Given the description of an element on the screen output the (x, y) to click on. 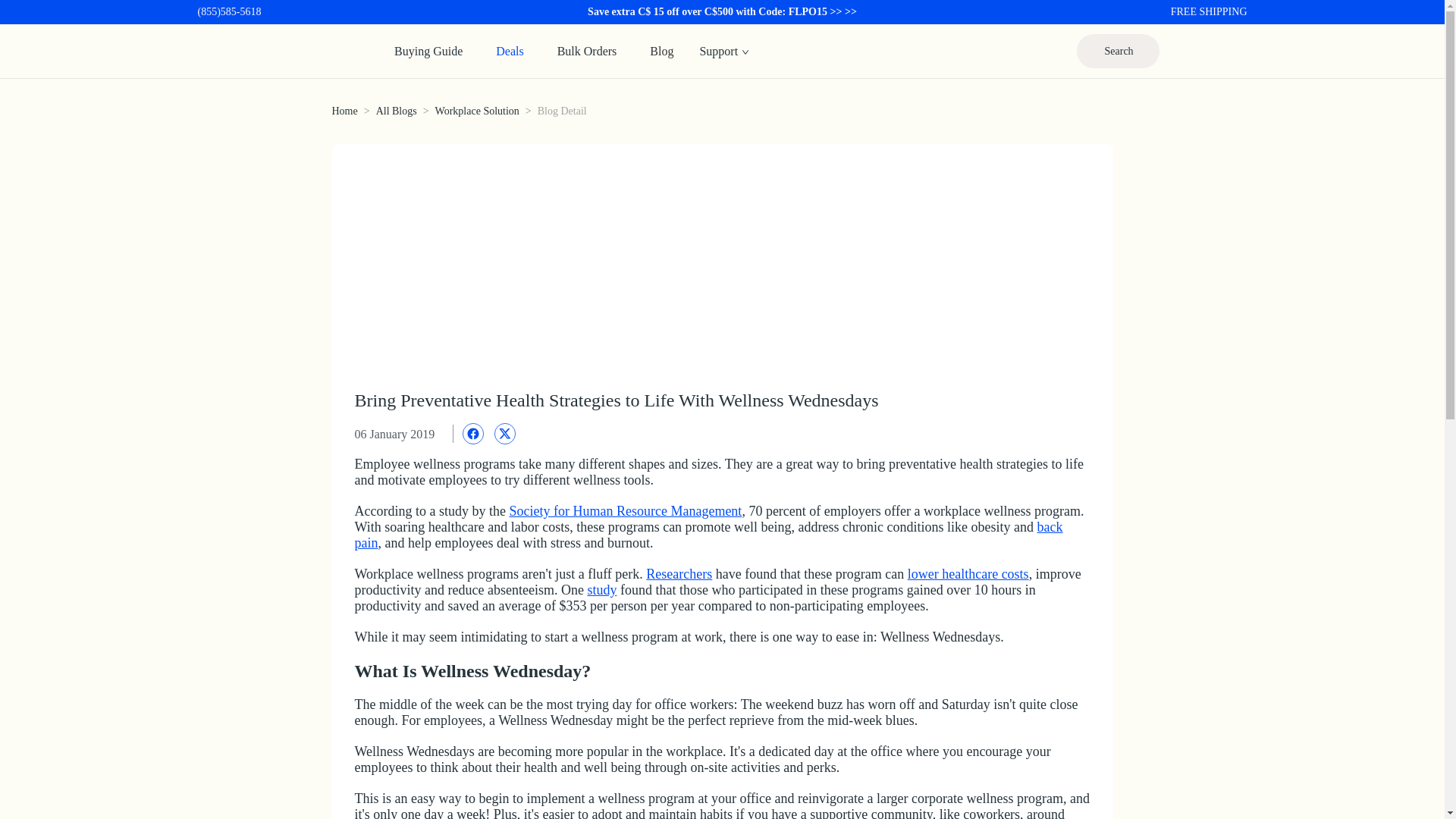
Buying Guide (428, 50)
Blog (661, 50)
Researchers (678, 573)
All Blogs (395, 111)
lower healthcare costs (968, 573)
Workplace Solution (477, 111)
back pain (708, 534)
Home (344, 111)
Bulk Orders (587, 50)
Society for Human Resource Management (624, 510)
